Given the description of an element on the screen output the (x, y) to click on. 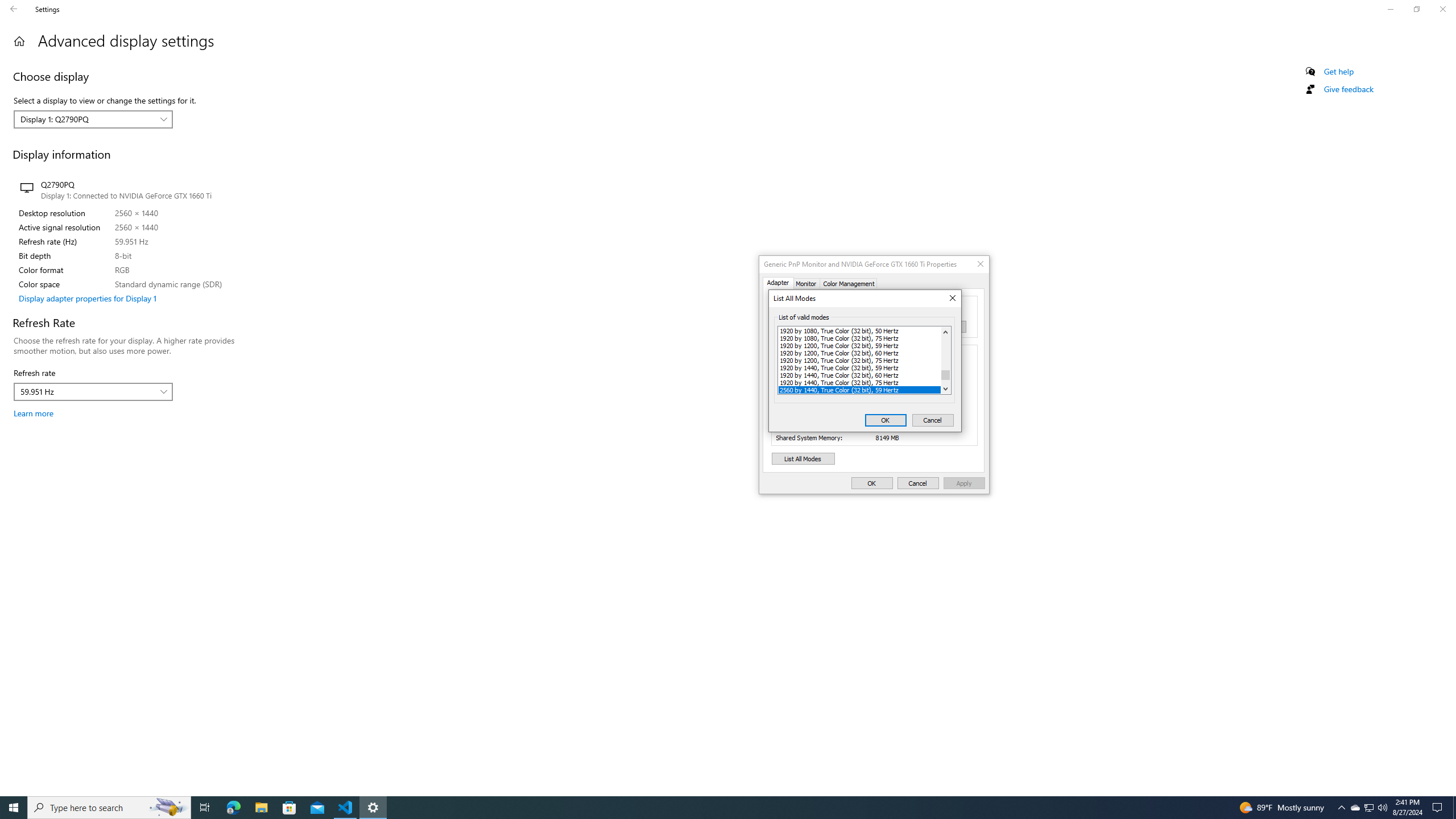
1920 by 1440, True Color (32 bit), 75 Hertz (859, 382)
Microsoft Store (289, 807)
Line up (945, 331)
Microsoft Edge (233, 807)
Line down (945, 388)
Visual Studio Code - 1 running window (345, 807)
2560 by 1440, True Color (32 bit), 59 Hertz (859, 389)
Page up (945, 353)
OK (885, 420)
Q2790: 100% (1382, 807)
Action Center, No new notifications (1439, 807)
1920 by 1200, True Color (32 bit), 75 Hertz (859, 359)
Type here to search (108, 807)
Close (1355, 807)
